Given the description of an element on the screen output the (x, y) to click on. 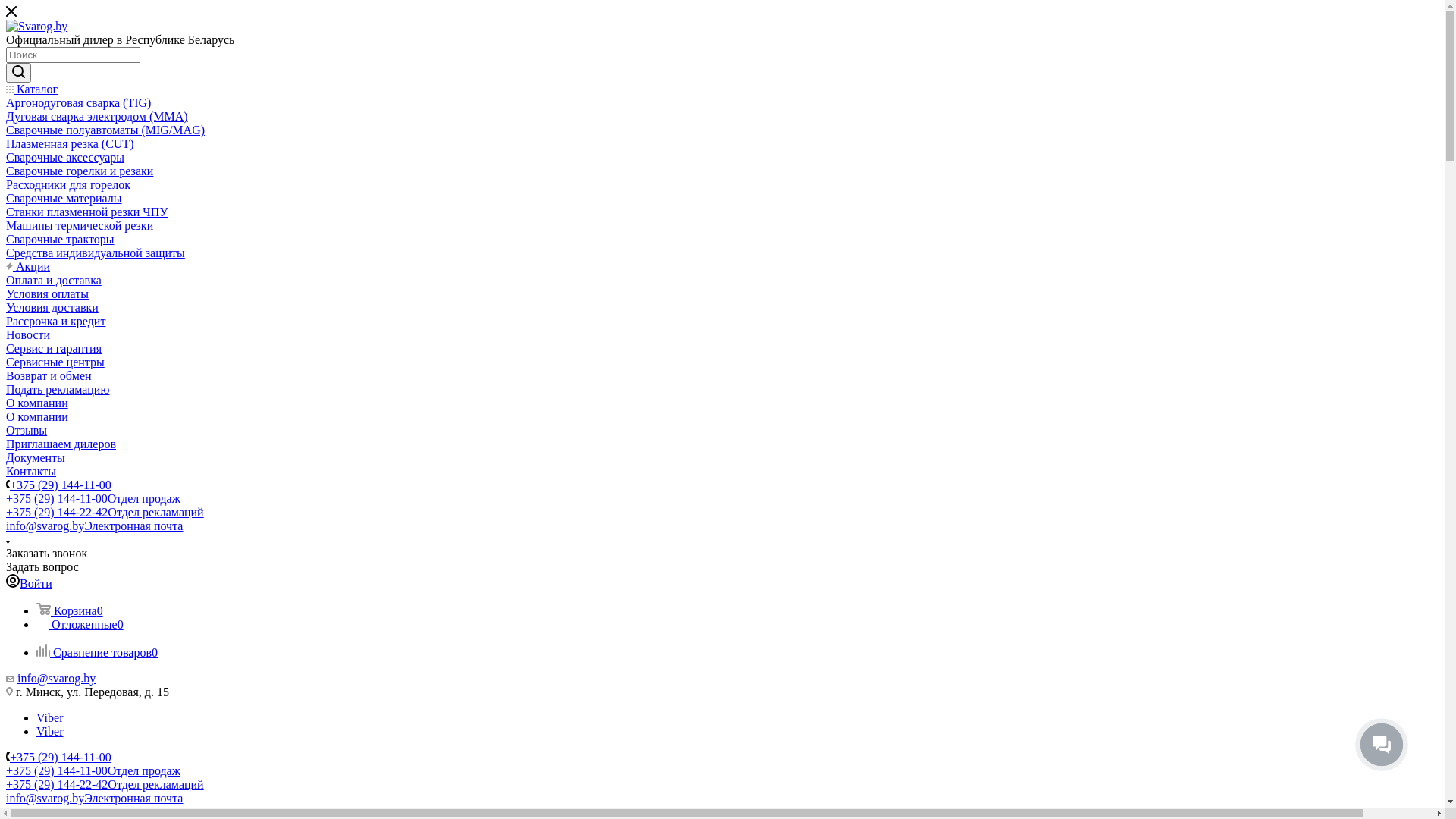
Svarog.by Element type: hover (36, 26)
Viber Element type: text (49, 717)
+375 (29) 144-11-00 Element type: text (60, 484)
info@svarog.by Element type: text (56, 677)
+375 (29) 144-11-00 Element type: text (60, 756)
Viber Element type: text (49, 730)
